Given the description of an element on the screen output the (x, y) to click on. 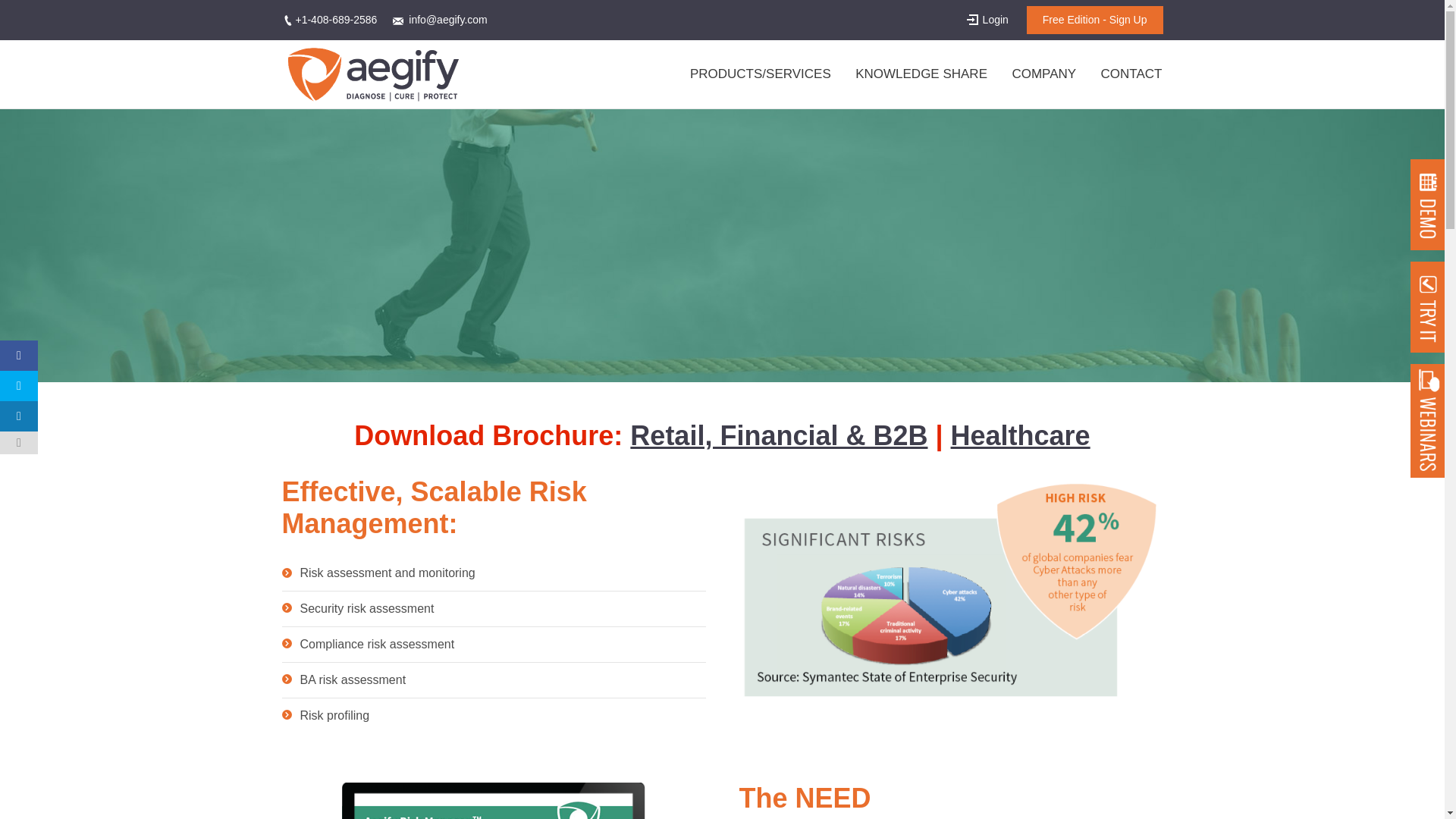
Healthcare (1020, 435)
KNOWLEDGE SHARE (921, 74)
COMPANY (1043, 74)
Login (987, 19)
Free Edition - Sign Up (1094, 19)
CONTACT (1131, 74)
